Given the description of an element on the screen output the (x, y) to click on. 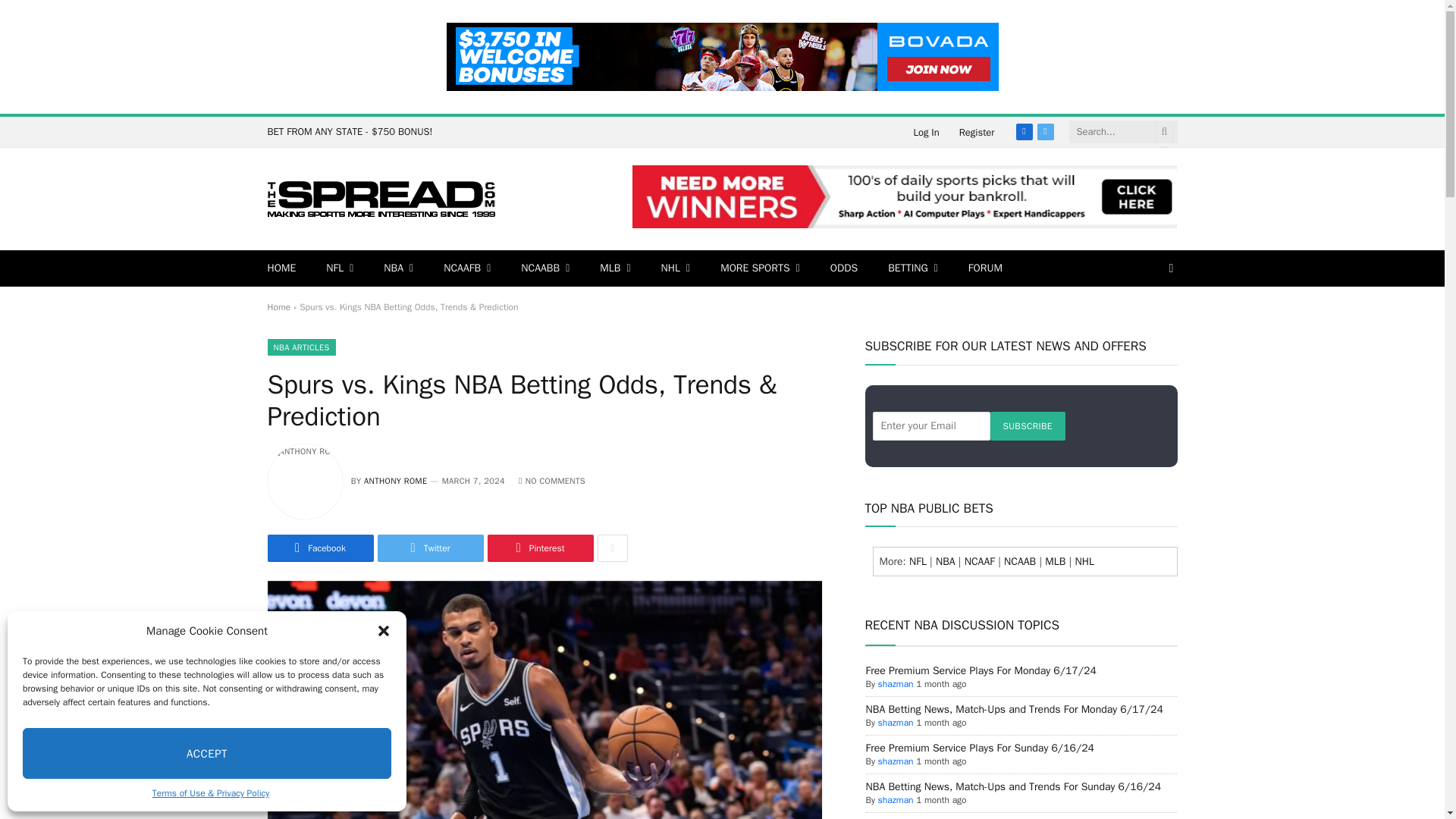
Log In (925, 132)
Share on Facebook (319, 547)
Facebook (1024, 131)
ACCEPT (207, 753)
NFL (339, 268)
TheSpread.com (380, 198)
Posts by Anthony Rome (395, 480)
HOME (281, 268)
NBA (398, 268)
Show More Social Sharing (611, 547)
NCAAFB (466, 268)
Switch to Dark Design - easier on eyes. (1168, 268)
Register (976, 132)
Share on Pinterest (539, 547)
